Given the description of an element on the screen output the (x, y) to click on. 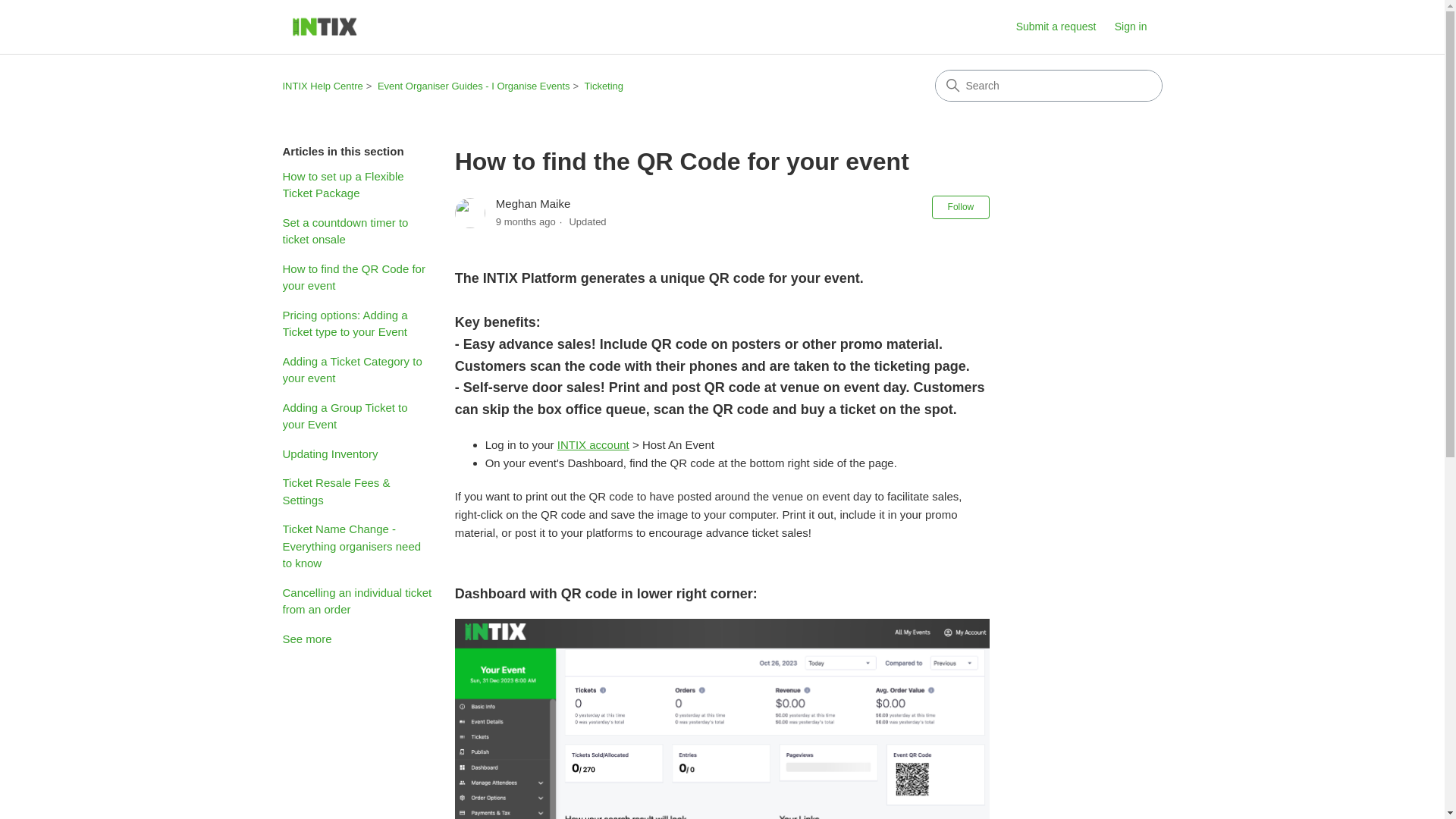
Ticket Name Change - Everything organisers need to know (356, 546)
Ticketing (604, 85)
INTIX Help Centre (322, 85)
How to set up a Flexible Ticket Package (356, 185)
Adding a Group Ticket to your Event (356, 415)
Opens a dialog (1138, 26)
Opens a widget where you can find more information (1376, 792)
See more (306, 638)
Cancelling an individual ticket from an order (356, 600)
Updating Inventory (356, 454)
Set a countdown timer to ticket onsale (356, 230)
2023-10-26 13:00 (526, 221)
Event Organiser Guides - I Organise Events (473, 85)
Pricing options: Adding a Ticket type to your Event (356, 323)
How to find the QR Code for your event (356, 277)
